Given the description of an element on the screen output the (x, y) to click on. 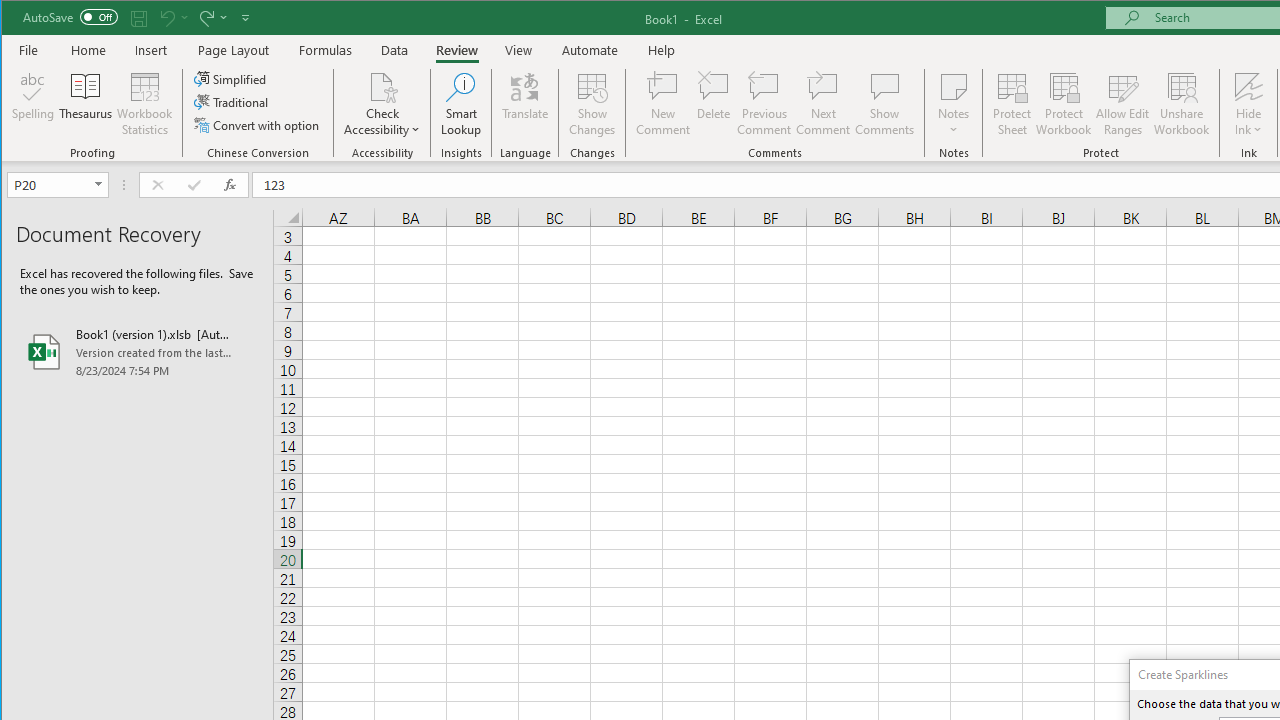
Quick Access Toolbar (137, 17)
Open (99, 184)
Convert with option (258, 124)
